Given the description of an element on the screen output the (x, y) to click on. 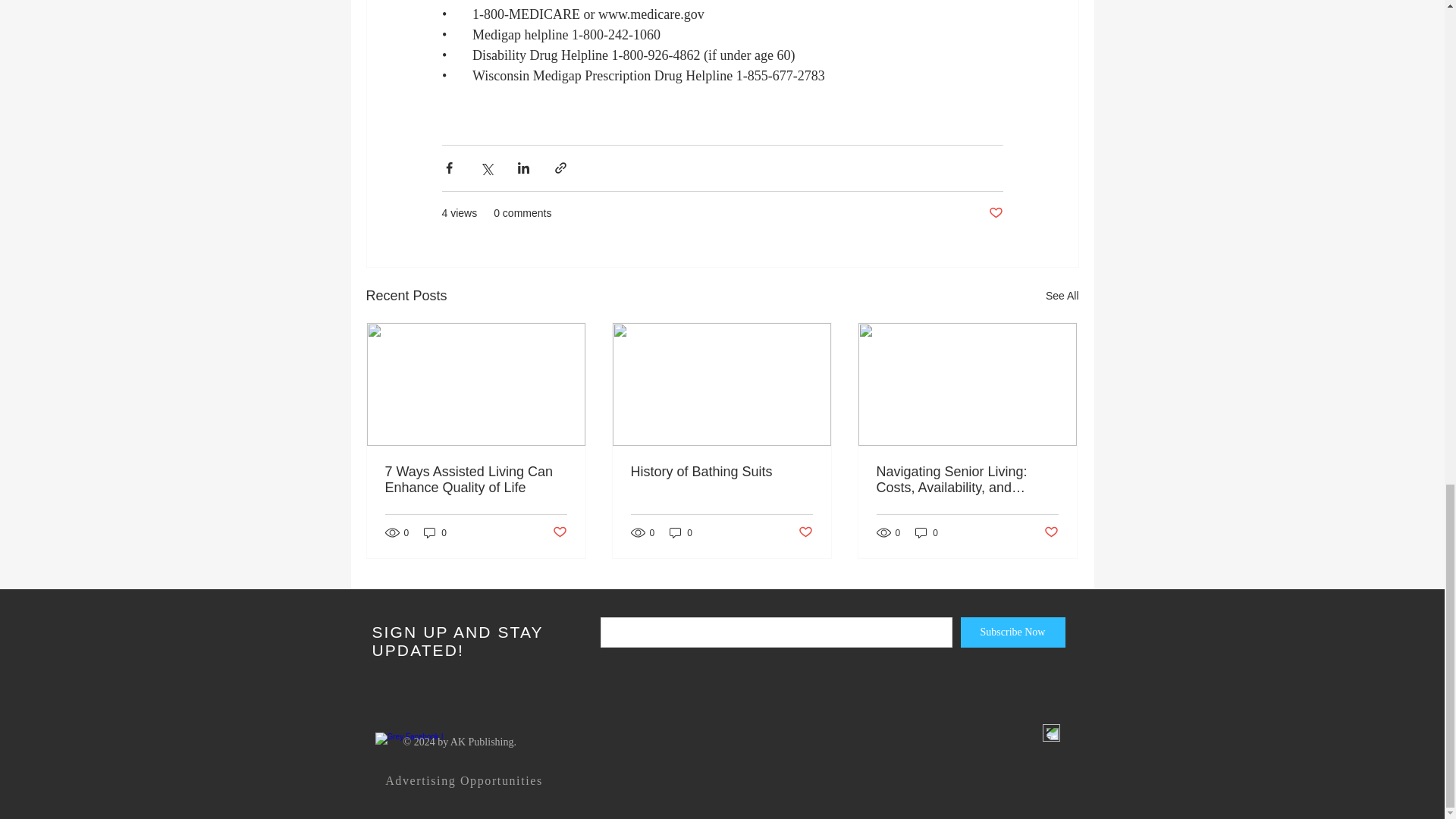
0 (681, 532)
0 (435, 532)
Post not marked as liked (1050, 532)
0 (926, 532)
Post not marked as liked (558, 532)
Post not marked as liked (804, 532)
Post not marked as liked (995, 213)
7 Ways Assisted Living Can Enhance Quality of Life (476, 480)
See All (1061, 296)
History of Bathing Suits (721, 471)
